Given the description of an element on the screen output the (x, y) to click on. 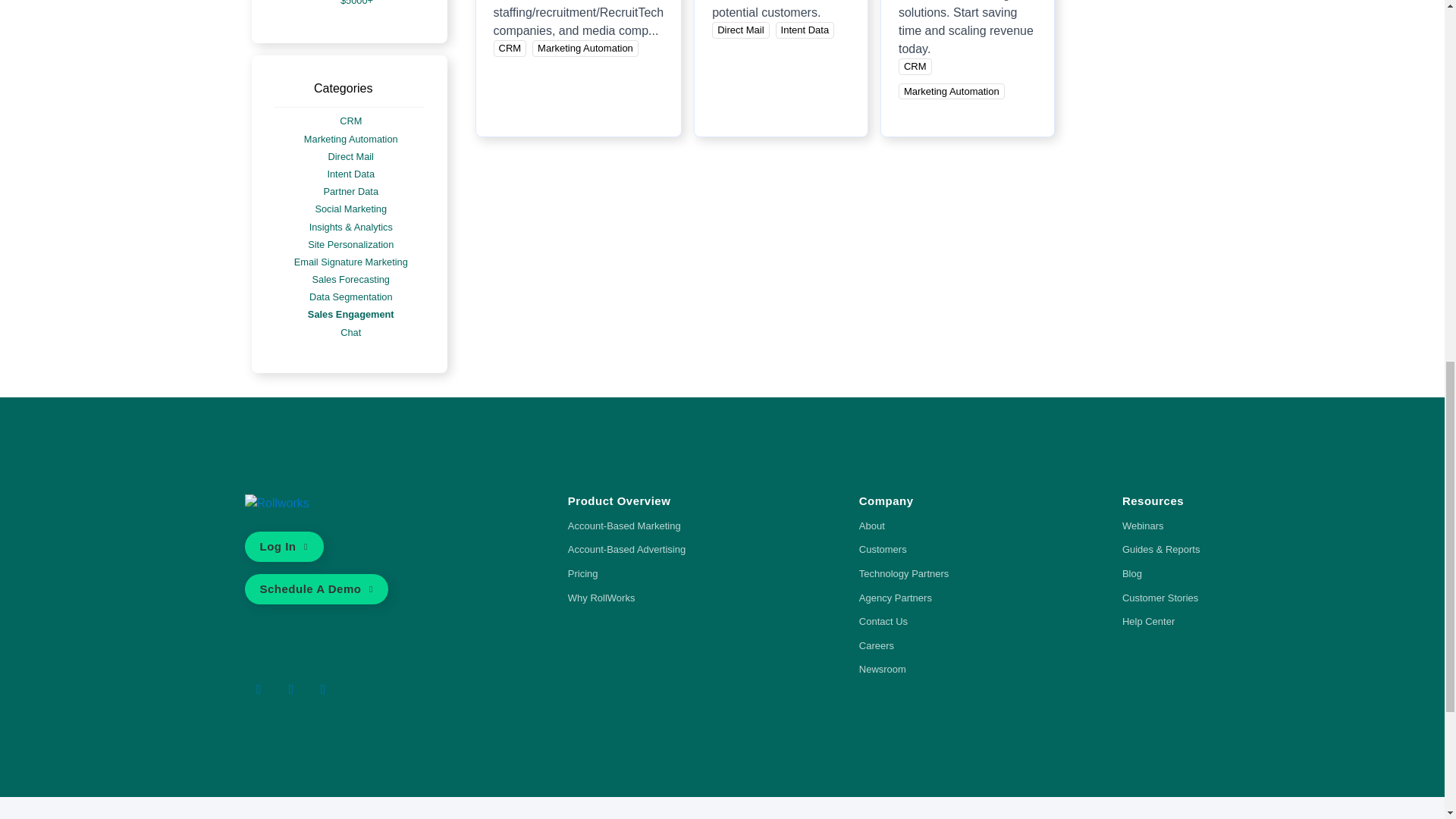
LinkedIn Embedded Content (370, 691)
Twitter (257, 688)
Facebook (290, 688)
Instagram (322, 688)
